Given the description of an element on the screen output the (x, y) to click on. 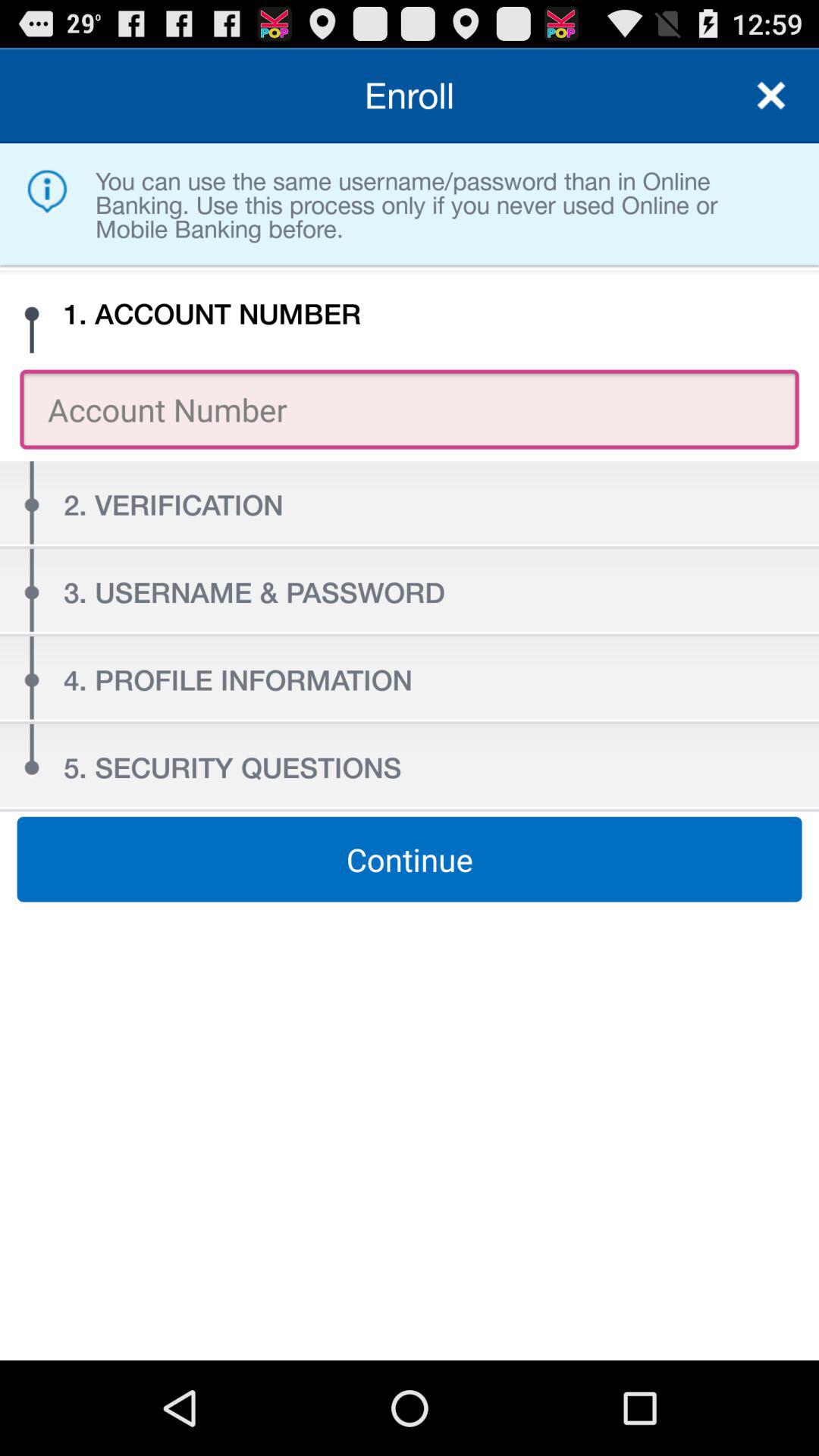
close enrollment (771, 95)
